Given the description of an element on the screen output the (x, y) to click on. 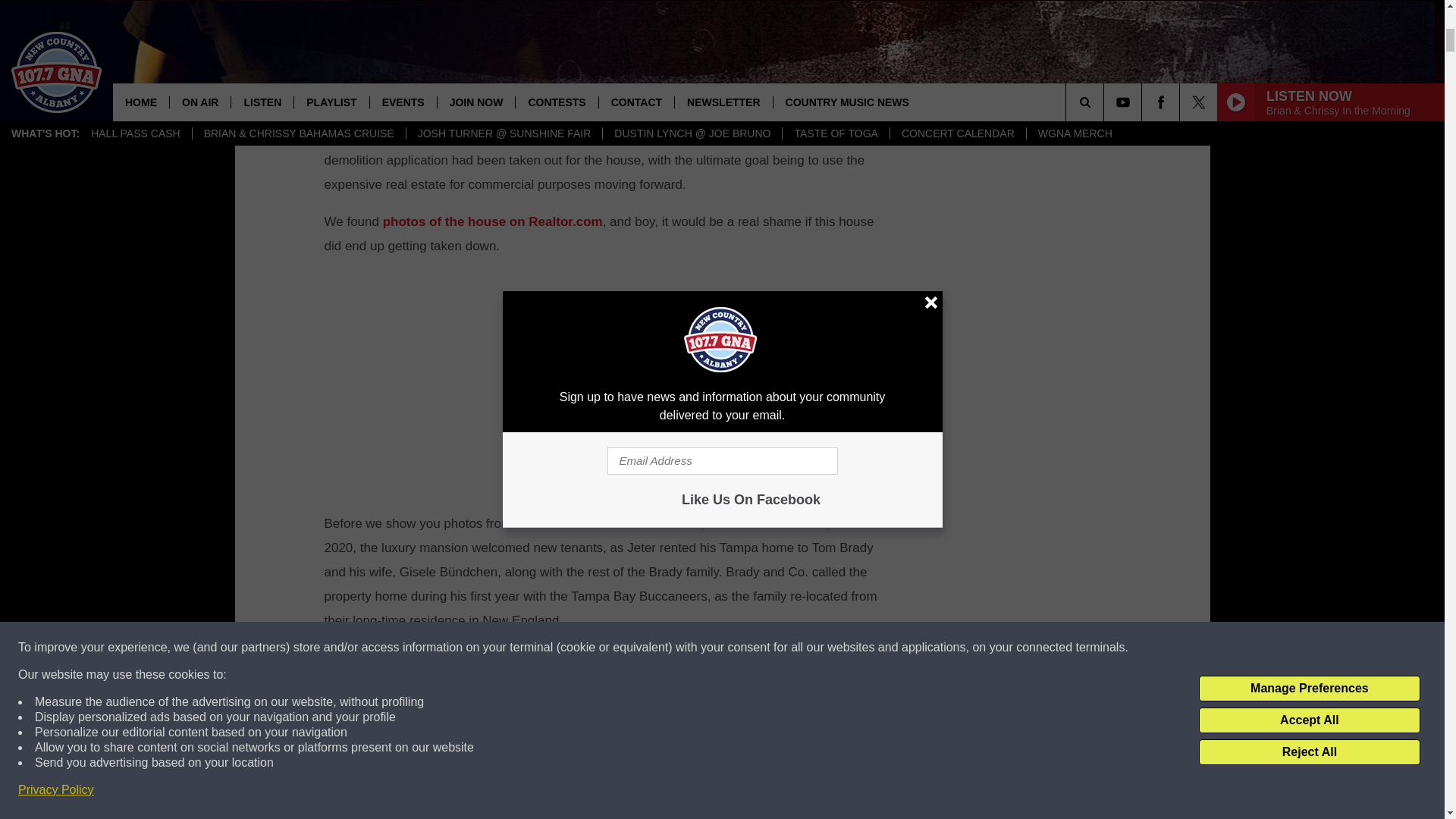
Email Address (600, 764)
